Given the description of an element on the screen output the (x, y) to click on. 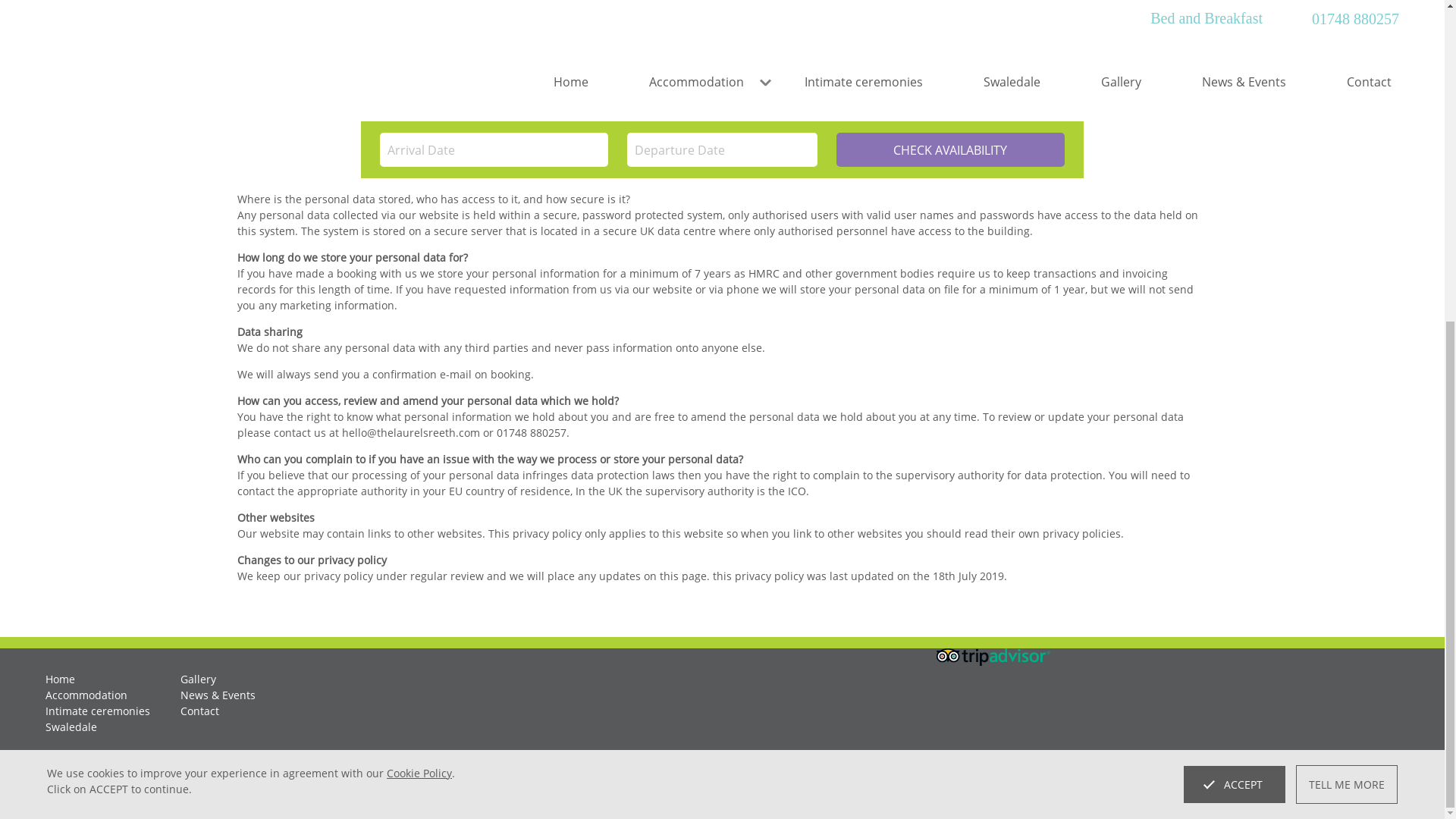
TELL ME MORE (1346, 260)
Gallery (197, 678)
Contact (199, 710)
Cookie Policy (419, 249)
Accommodation (86, 694)
Home (60, 678)
Cookie policy (158, 788)
Website design by SRCreative.net (1313, 788)
Swaledale (71, 726)
Intimate ceremonies (97, 710)
Privacy policy (79, 788)
ACCEPT (1234, 261)
